Given the description of an element on the screen output the (x, y) to click on. 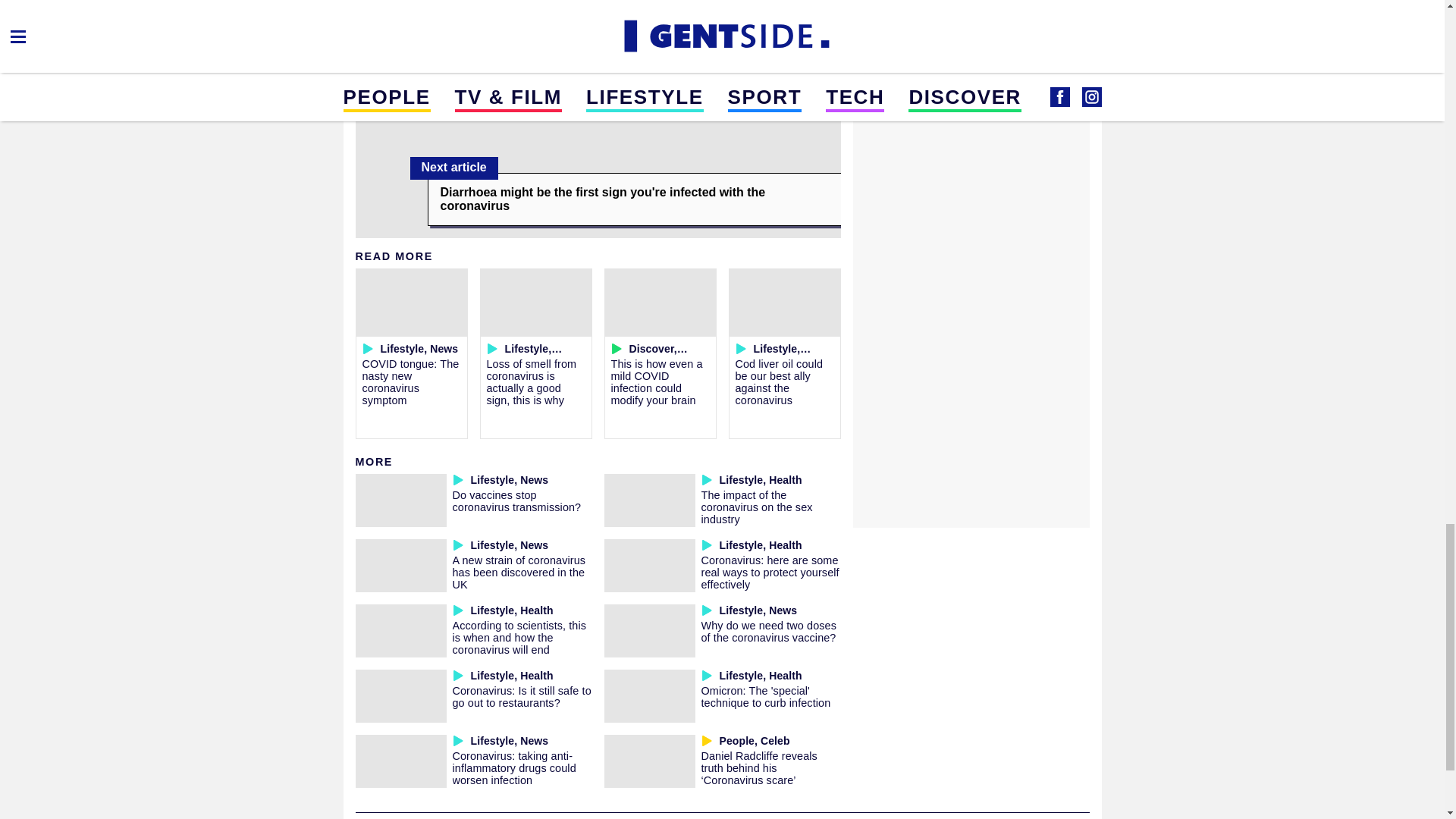
Omicron: The 'special' technique to curb infection (764, 696)
Coronavirus: Is it still safe to go out to restaurants? (521, 696)
COVID tongue: The nasty new coronavirus symptom (411, 381)
Why do we need two doses of the coronavirus vaccine? (767, 631)
A new strain of coronavirus has been discovered in the UK (518, 572)
Cod liver oil could be our best ally against the coronavirus (779, 381)
The impact of the coronavirus on the sex industry (756, 506)
Do vaccines stop coronavirus transmission? (515, 500)
